Given the description of an element on the screen output the (x, y) to click on. 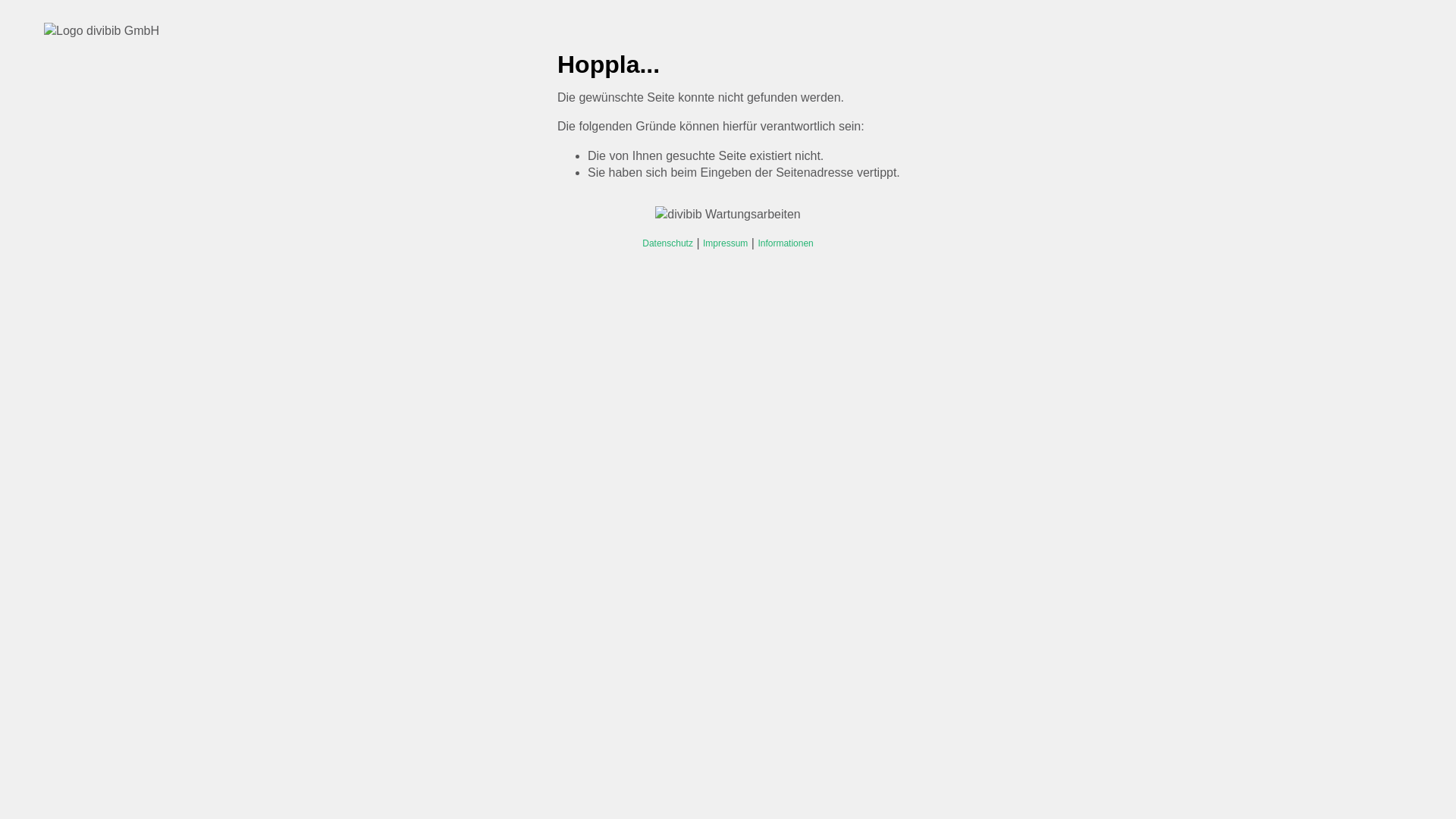
Datenschutz Element type: text (667, 243)
Informationen Element type: text (784, 243)
Impressum Element type: text (724, 243)
